Given the description of an element on the screen output the (x, y) to click on. 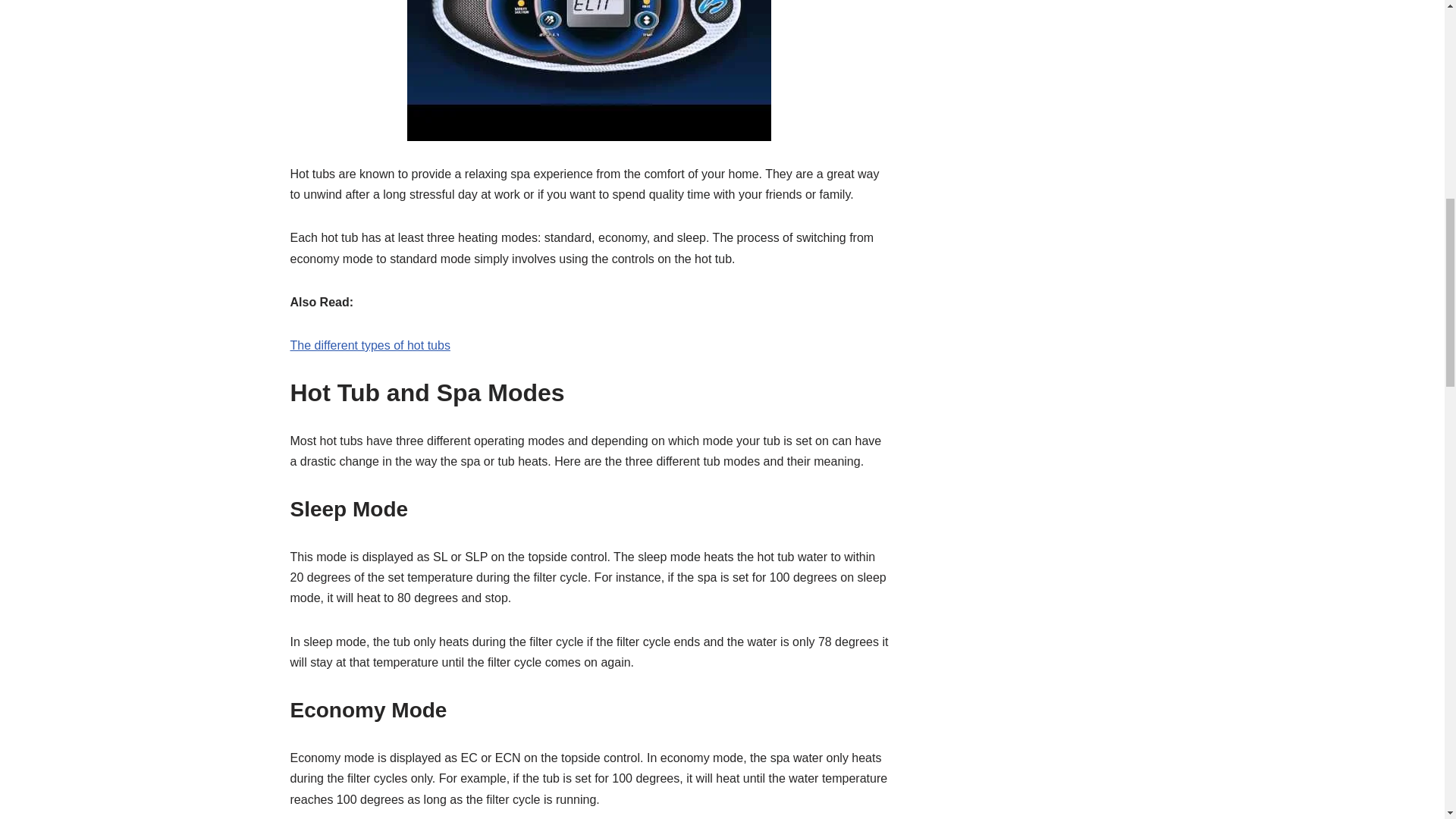
The different types of hot tubs (369, 345)
